Given the description of an element on the screen output the (x, y) to click on. 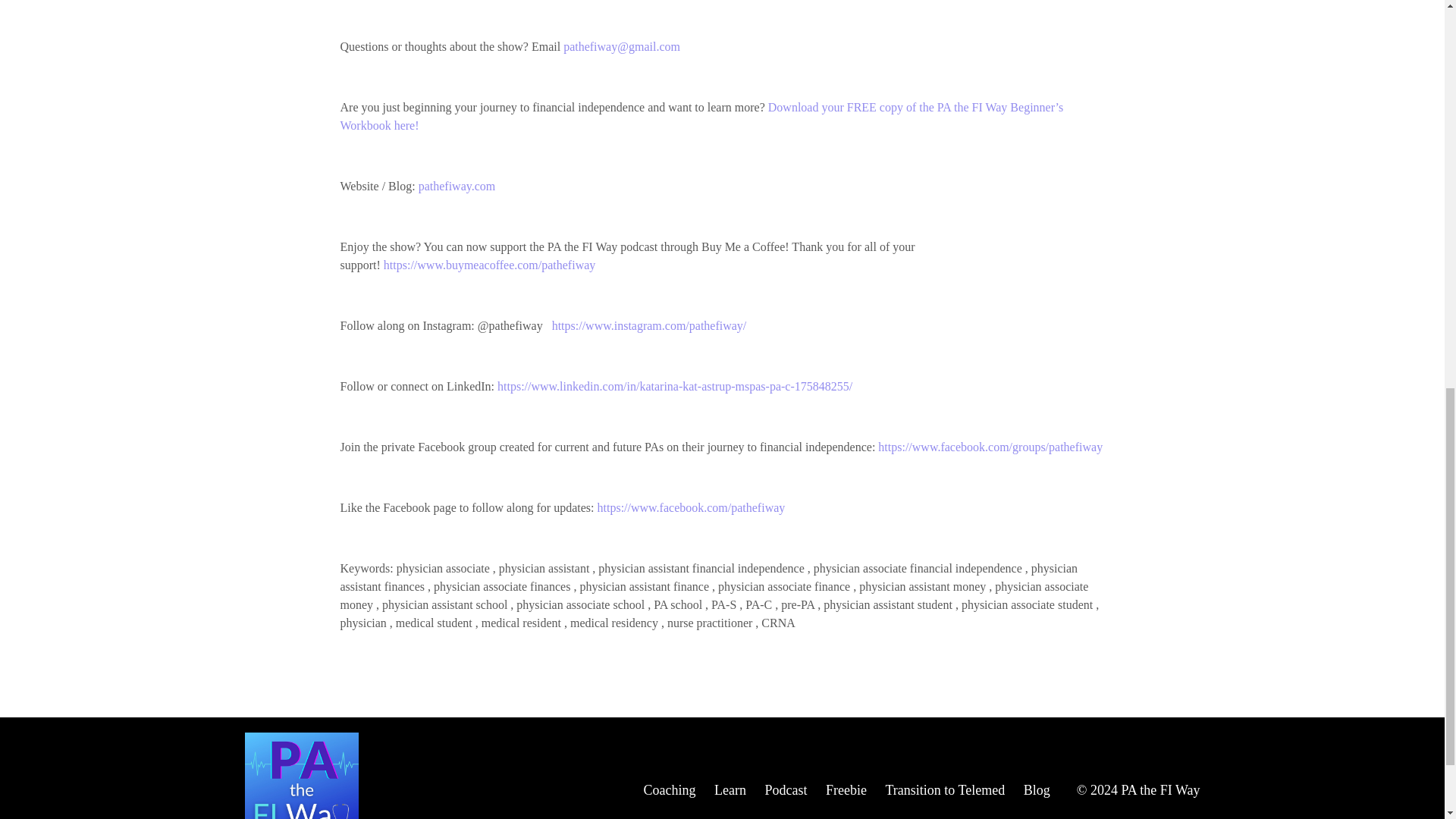
Transition to Telemed (944, 789)
Blog (1036, 789)
Learn (729, 789)
Freebie (845, 789)
Coaching (669, 789)
pathefiway.com (457, 185)
Podcast (785, 789)
